Given the description of an element on the screen output the (x, y) to click on. 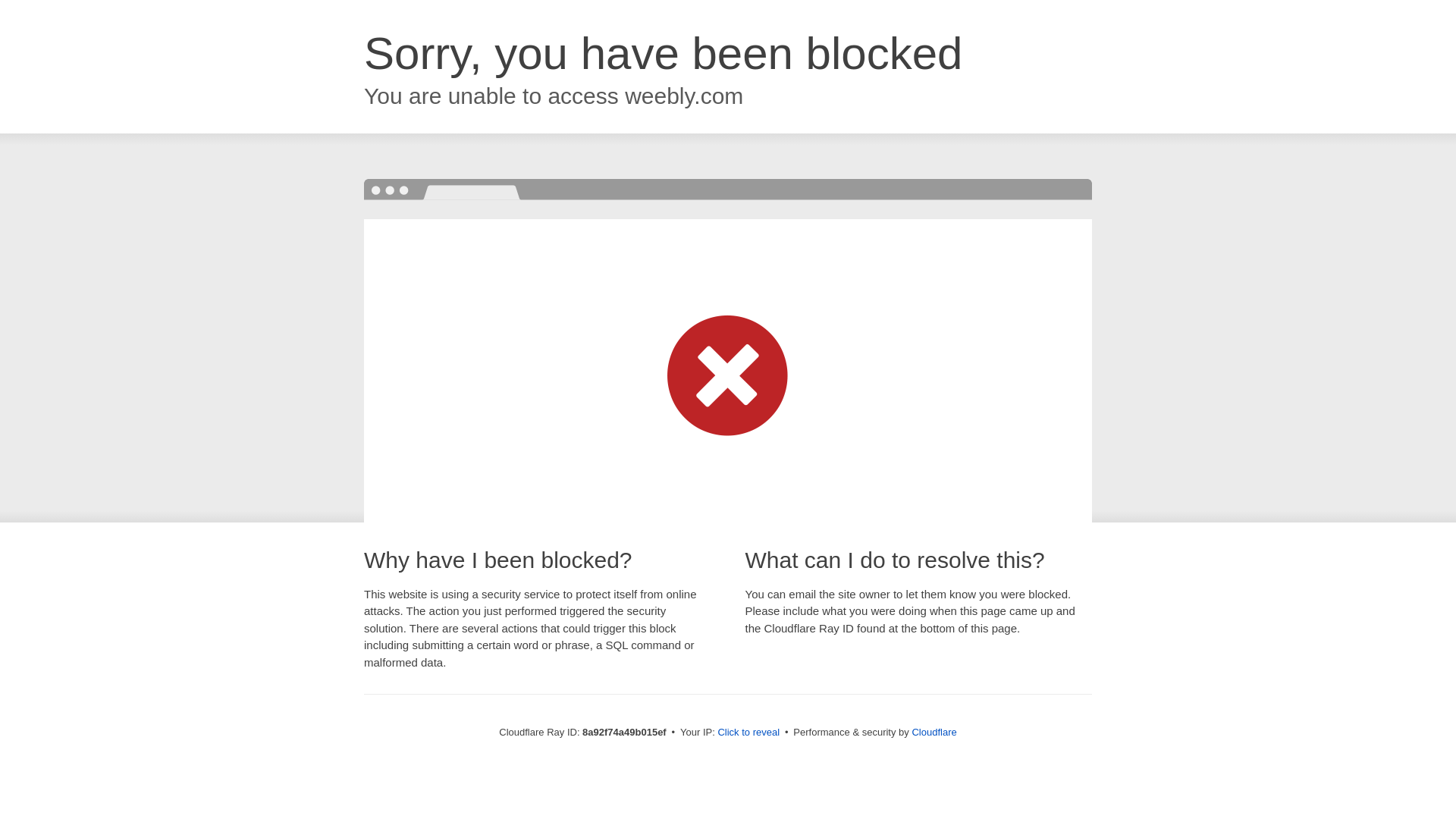
Cloudflare (933, 731)
Click to reveal (747, 732)
